Given the description of an element on the screen output the (x, y) to click on. 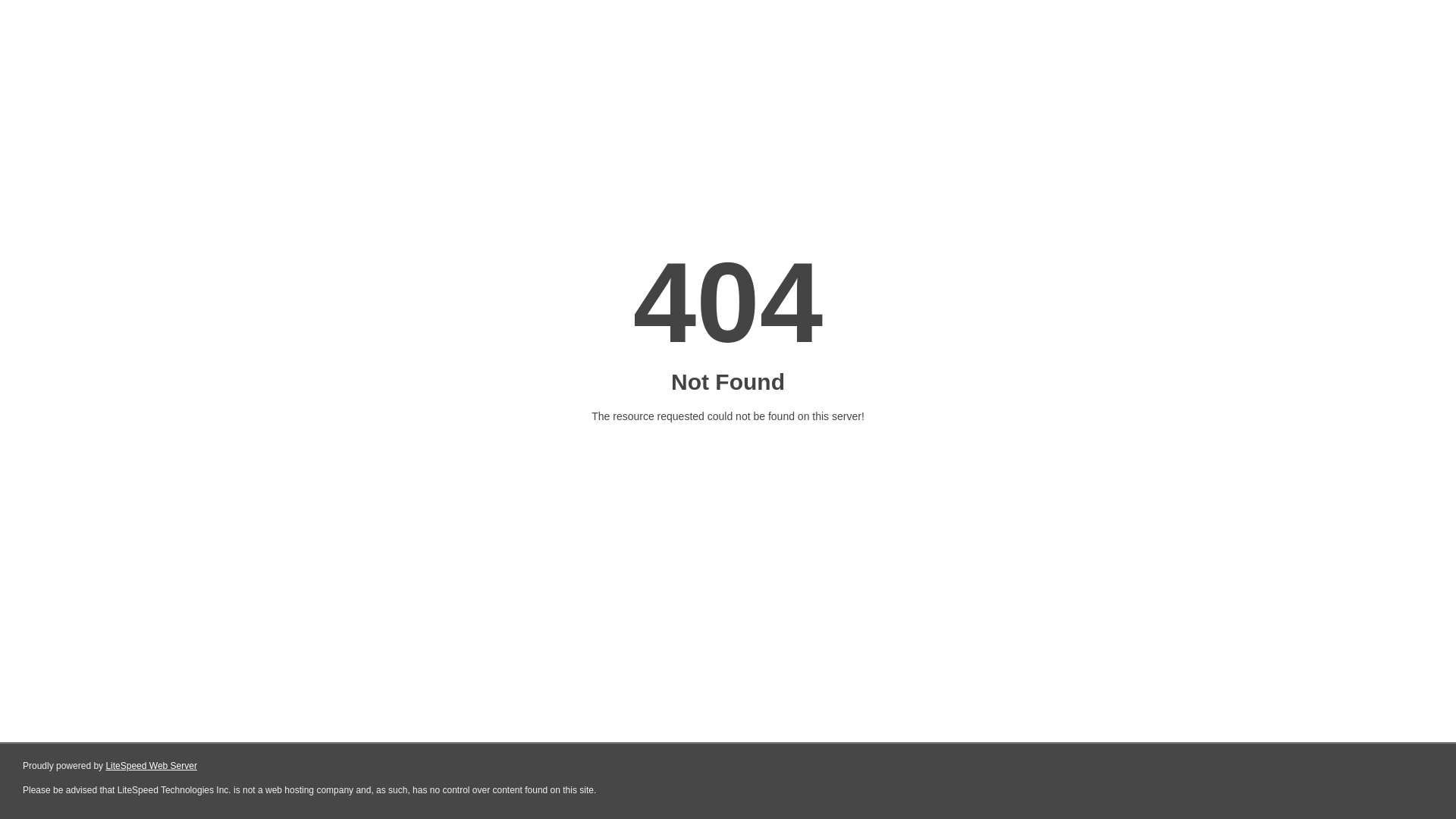
LiteSpeed Web Server Element type: text (151, 765)
